Given the description of an element on the screen output the (x, y) to click on. 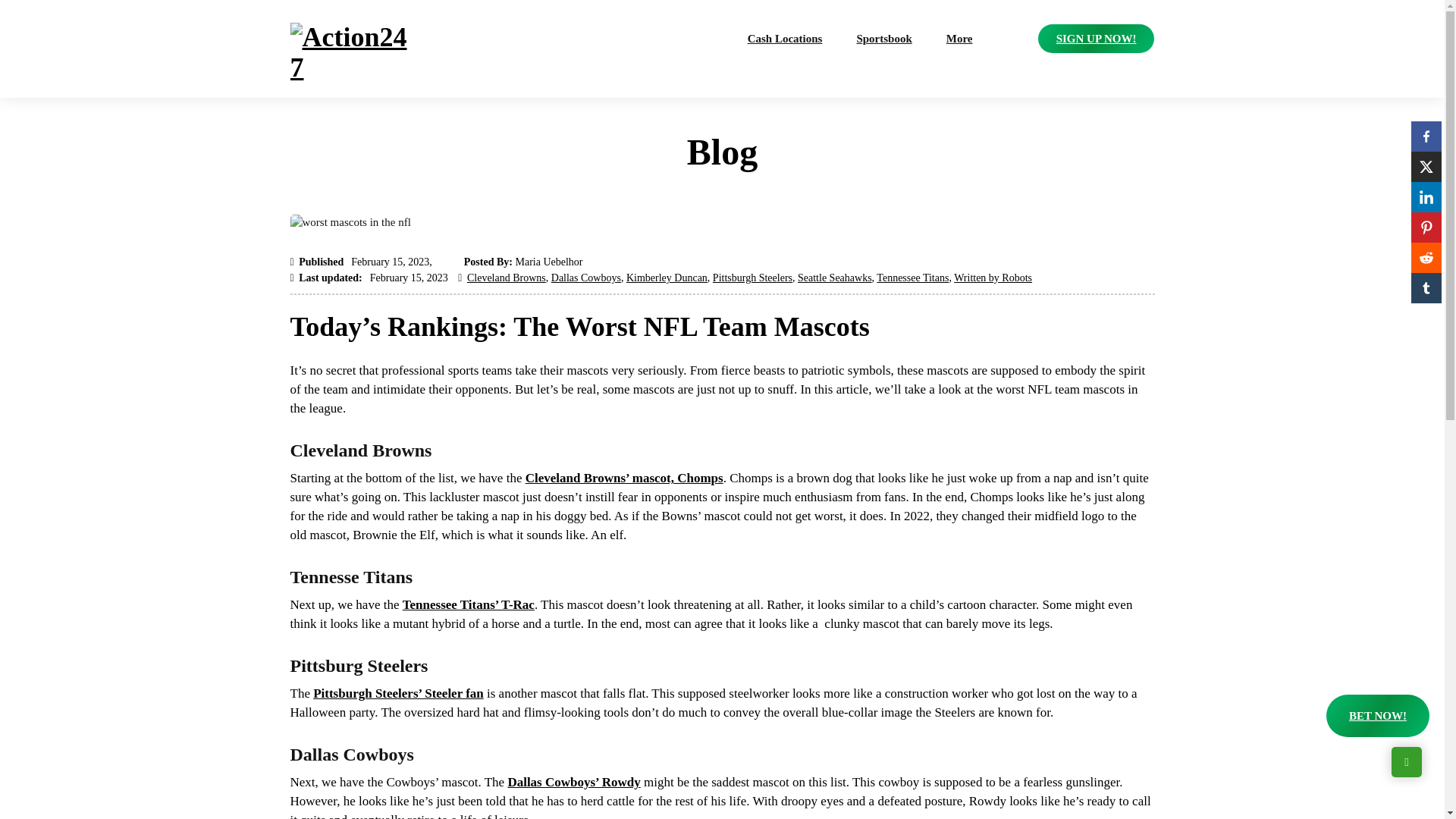
Tumblr (1425, 287)
Linkedin (1425, 196)
Written by Robots (992, 277)
Facebook (1425, 136)
Kimberley Duncan (666, 277)
Pinterest (1425, 227)
Reddit (1425, 257)
X (1425, 166)
SIGN UP NOW! (1096, 38)
Pittsburgh Steelers (752, 277)
Cleveland Browns (506, 277)
Seattle Seahawks (834, 277)
Dallas Cowboys (586, 277)
More (959, 38)
Sportsbook (883, 38)
